Given the description of an element on the screen output the (x, y) to click on. 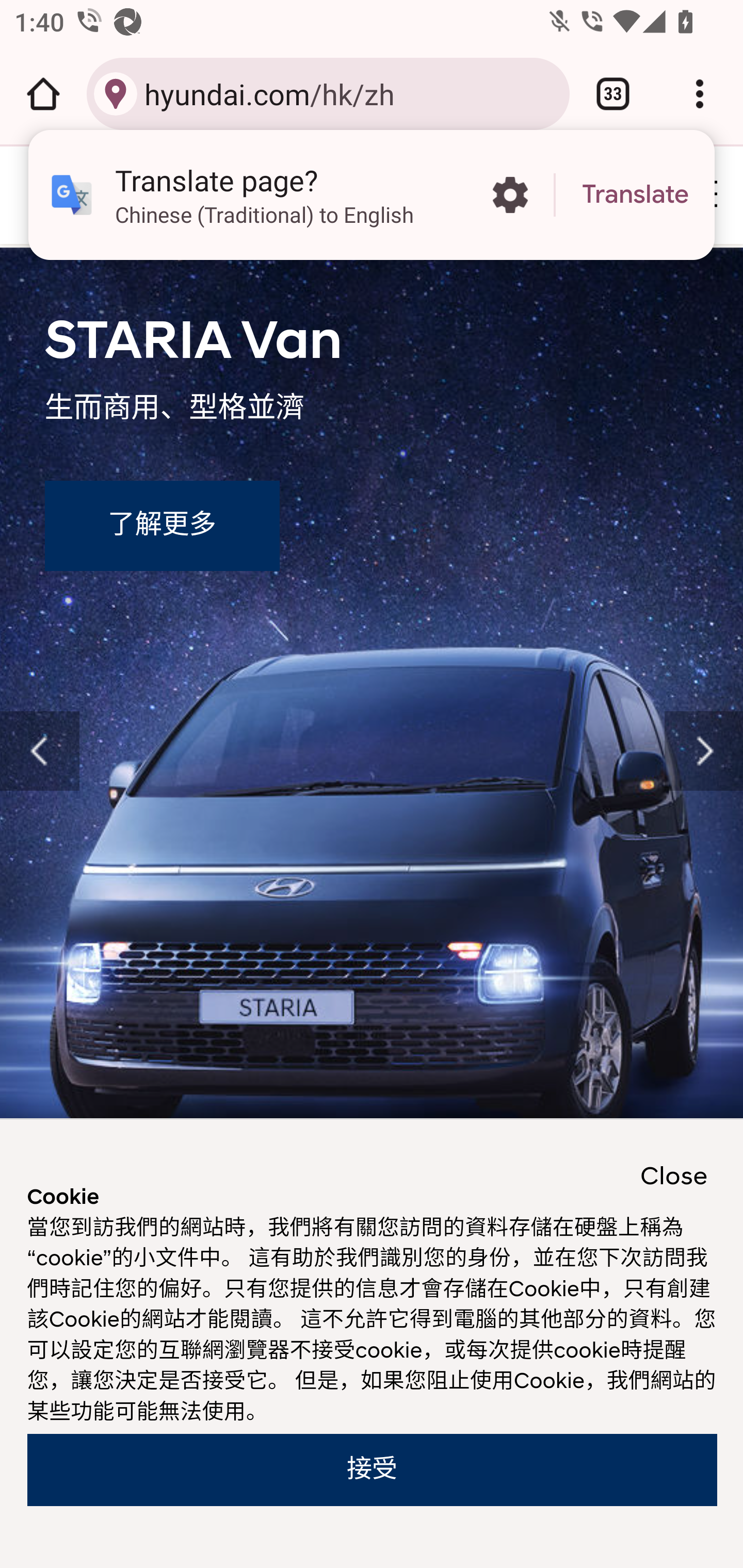
Open the home page (43, 93)
Connection is secure (115, 93)
Switch or close tabs (612, 93)
Customize and control Google Chrome (699, 93)
hyundai.com/hk/zh (349, 92)
Translate (634, 195)
More options in the Translate page? (509, 195)
了解更多 (161, 525)
prev (40, 751)
next (703, 751)
Close (673, 1177)
接受 (371, 1469)
